Given the description of an element on the screen output the (x, y) to click on. 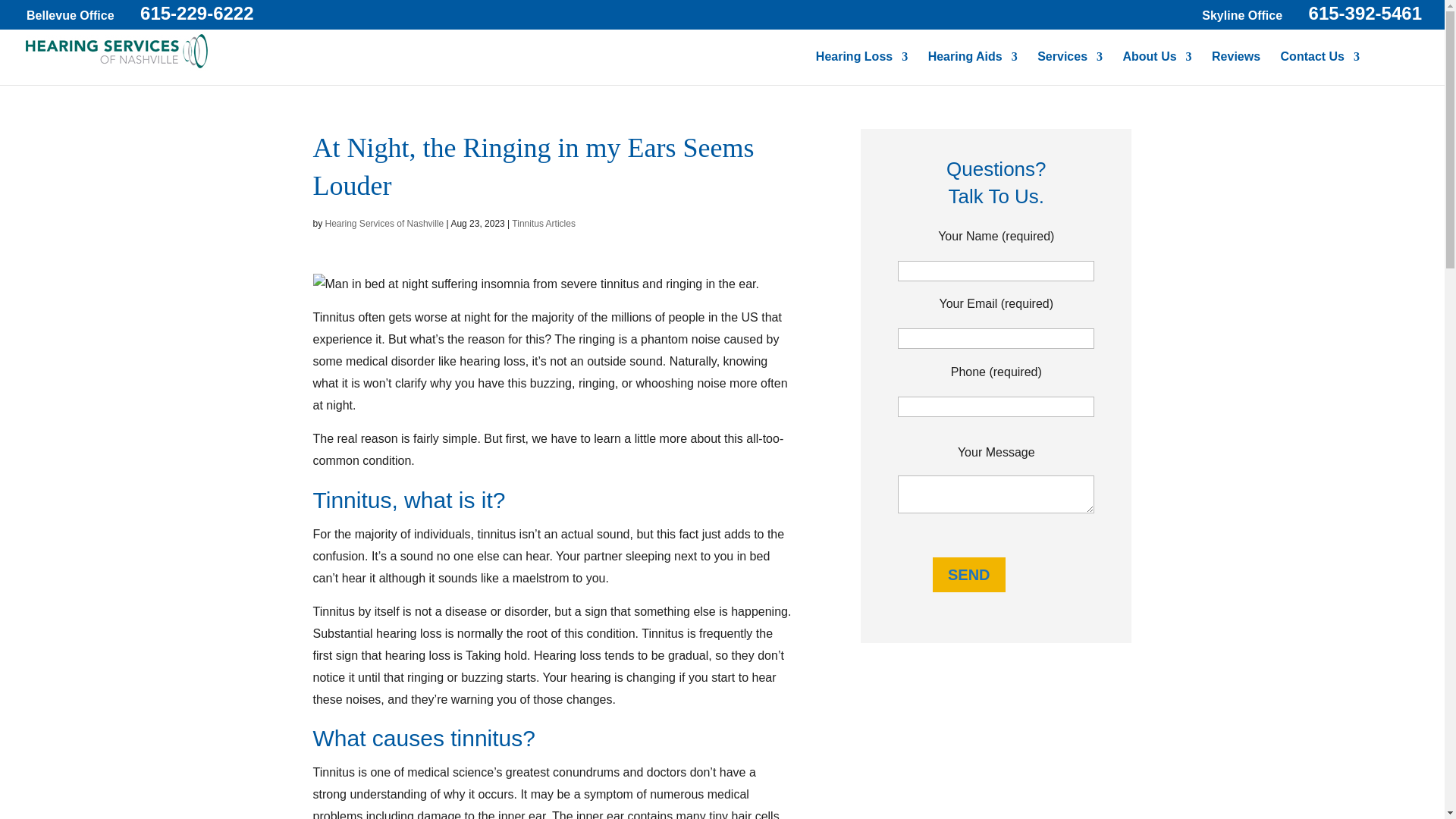
About Us (1156, 68)
Hearing Aids (972, 68)
Send (969, 574)
Bellevue Office (70, 15)
Skyline Office (1243, 15)
Hearing Loss (861, 68)
Reviews (1235, 68)
Services (1069, 68)
Hearing Services of Nashville (117, 67)
615-392-5461 (1365, 13)
Posts by Hearing Services of Nashville (384, 223)
Contact Us (1320, 68)
615-229-6222 (196, 13)
